Given the description of an element on the screen output the (x, y) to click on. 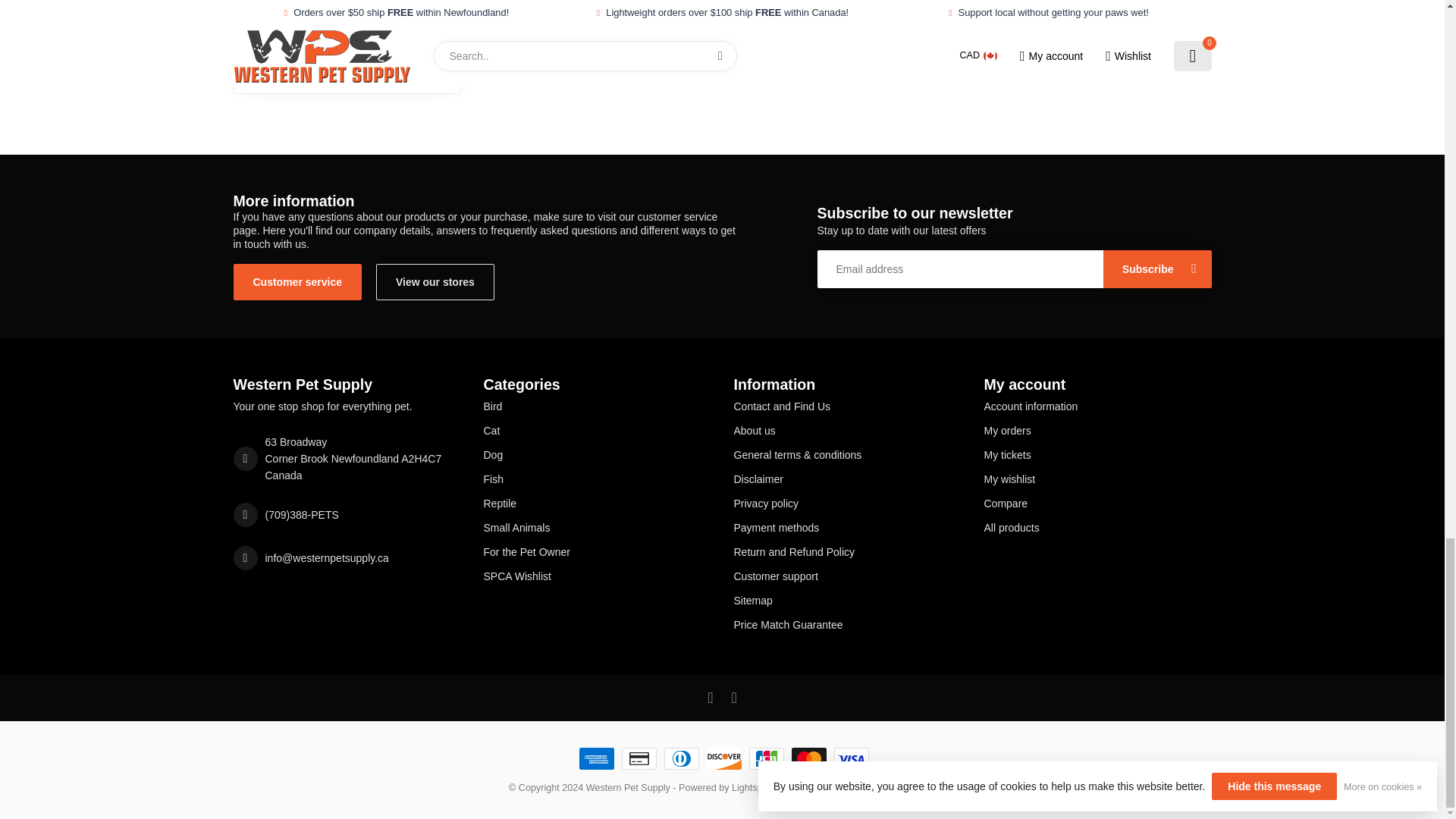
Contact and Find Us (846, 405)
1 (387, 66)
Privacy policy (846, 503)
Payment methods (846, 527)
Customer support (846, 576)
About us (846, 430)
Disclaimer (846, 478)
Return and Refund Policy (846, 551)
